Given the description of an element on the screen output the (x, y) to click on. 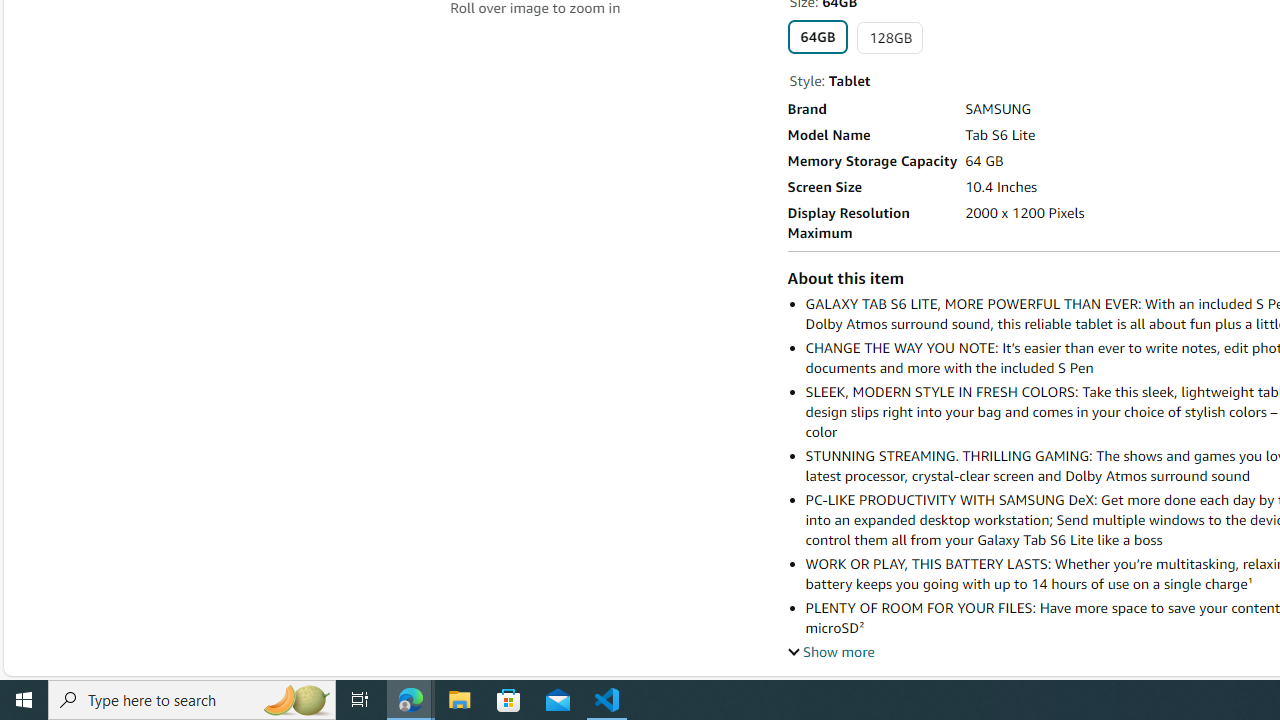
128GB (889, 38)
Show more (831, 651)
64GB (817, 36)
